Given the description of an element on the screen output the (x, y) to click on. 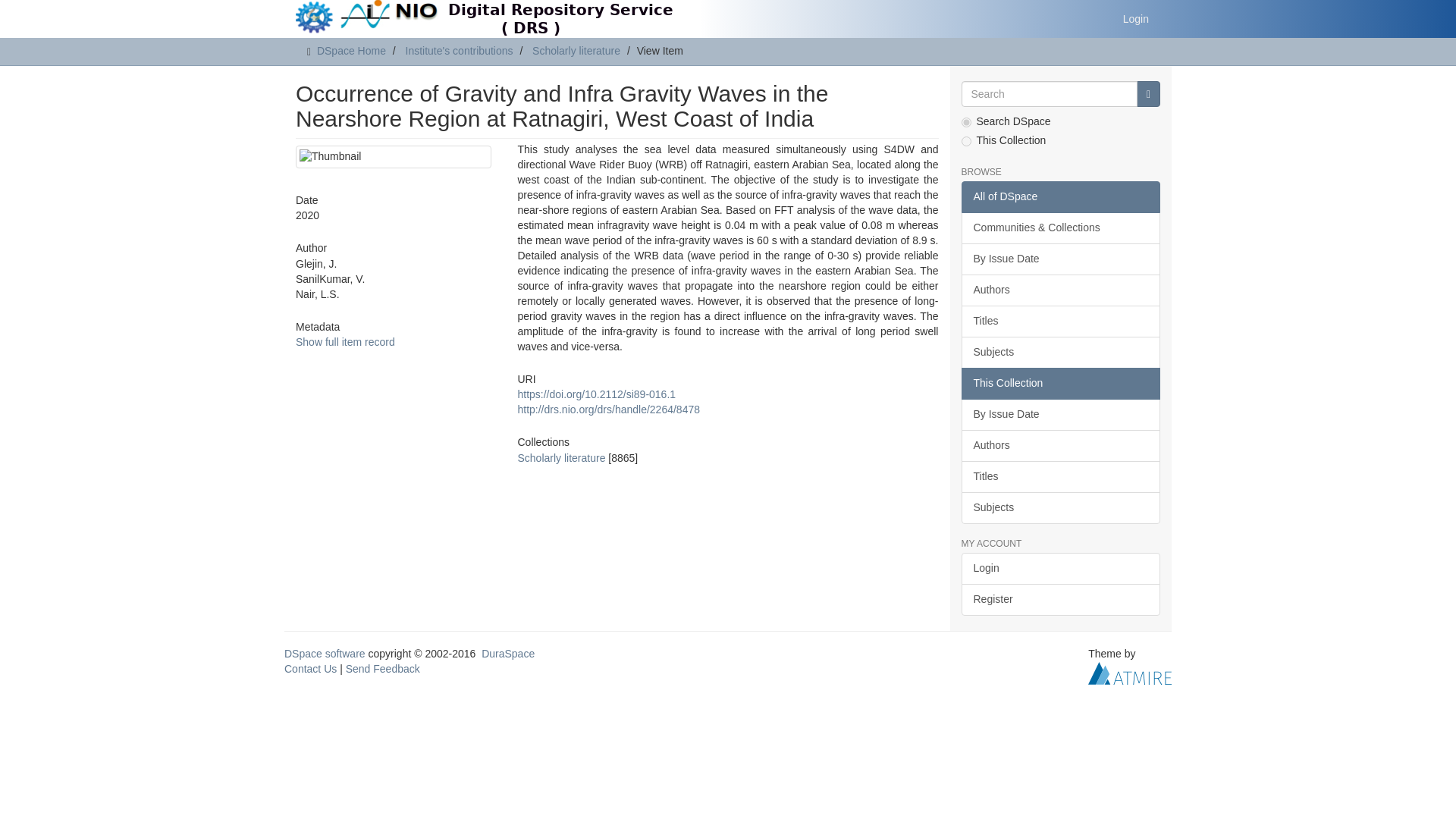
Go (1148, 94)
DSpace software (324, 653)
Atmire NV (1129, 672)
This Collection (1060, 383)
By Issue Date (1060, 259)
Contact Us (309, 668)
Login (1060, 568)
Show full item record (344, 341)
Login (1136, 18)
Register (1060, 599)
